Given the description of an element on the screen output the (x, y) to click on. 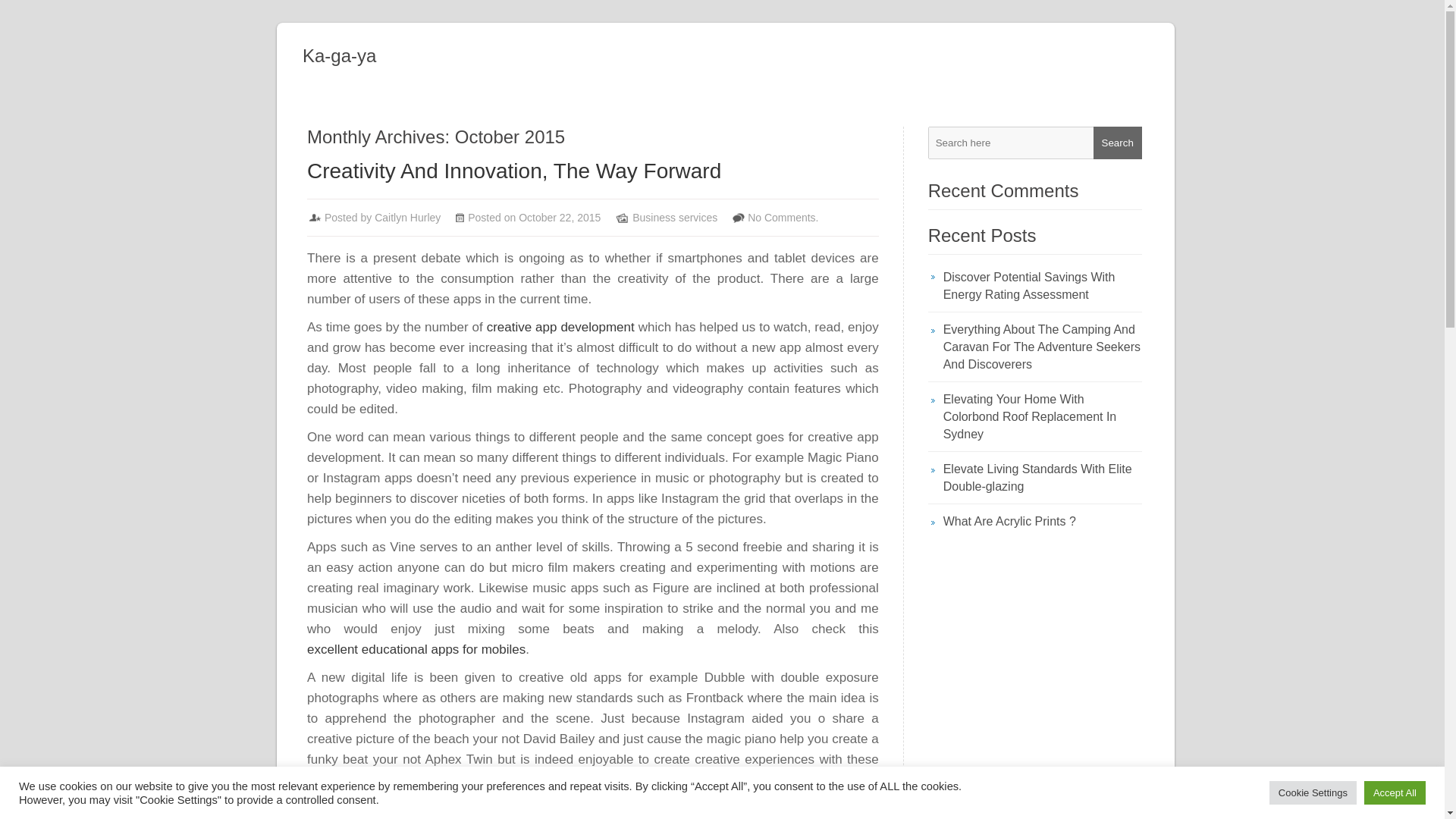
creative app development (560, 327)
Permanent link to Creativity And Innovation, The Way Forward (513, 170)
Search (1117, 142)
Elevate Living Standards With Elite Double-glazing (1042, 477)
Business services (674, 217)
Caitlyn Hurley (407, 217)
Search (1117, 142)
What Are Acrylic Prints ? (1042, 520)
Monthly Archives: October 2015 (597, 137)
excellent educational apps for mobiles (416, 649)
Ka-ga-ya (738, 55)
Discover Potential Savings With Energy Rating Assessment (1042, 285)
Creativity And Innovation, The Way Forward (513, 170)
